Given the description of an element on the screen output the (x, y) to click on. 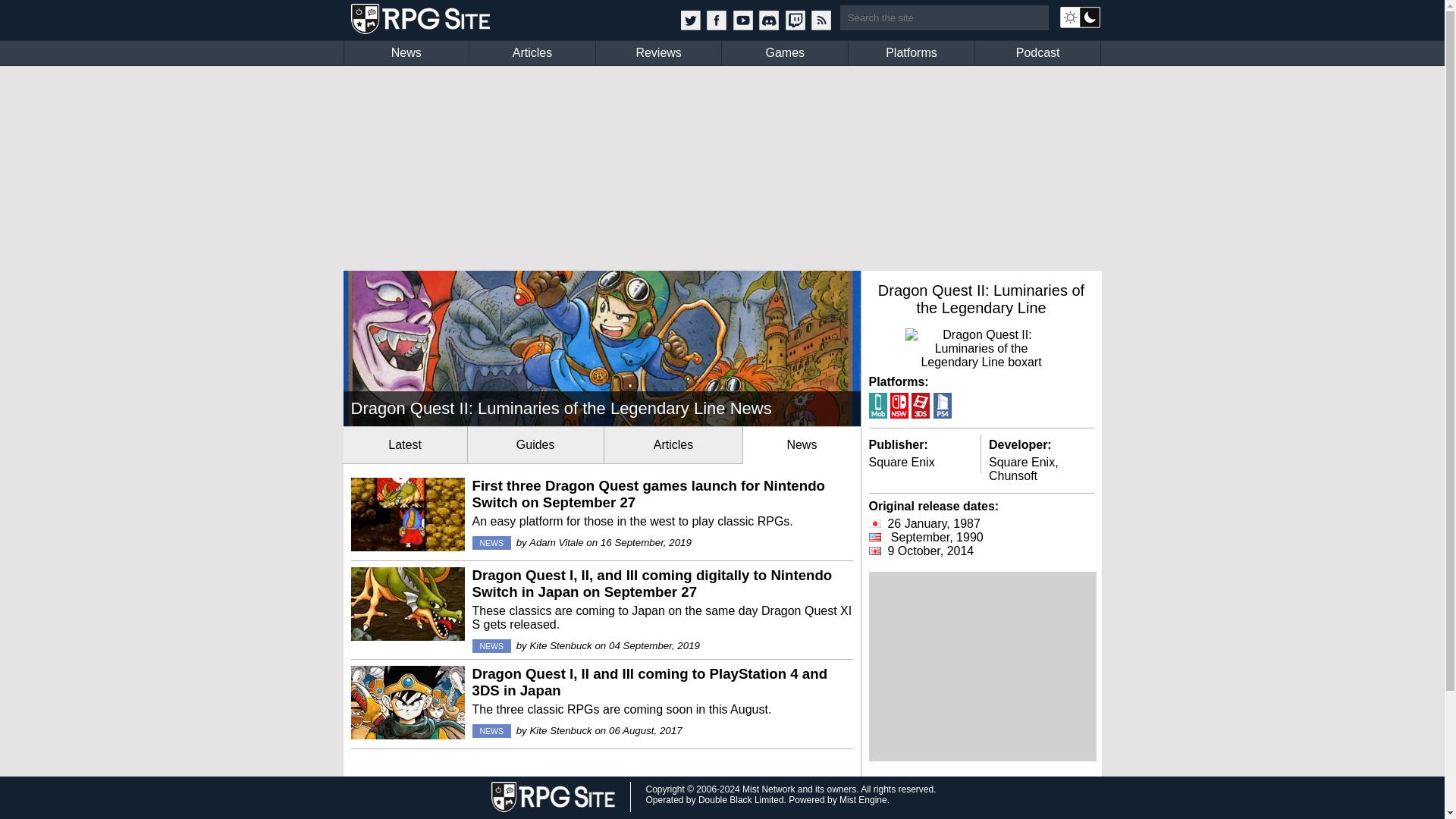
Mobile (877, 405)
Kite Stenbuck (560, 730)
NEWS (491, 730)
Games (784, 52)
Nintendo Switch (898, 405)
NEWS (491, 645)
News (405, 52)
Articles (531, 52)
Adam Vitale (556, 542)
Nintendo 3DS (920, 405)
News (801, 444)
Platforms (911, 52)
Kite Stenbuck (560, 645)
